Given the description of an element on the screen output the (x, y) to click on. 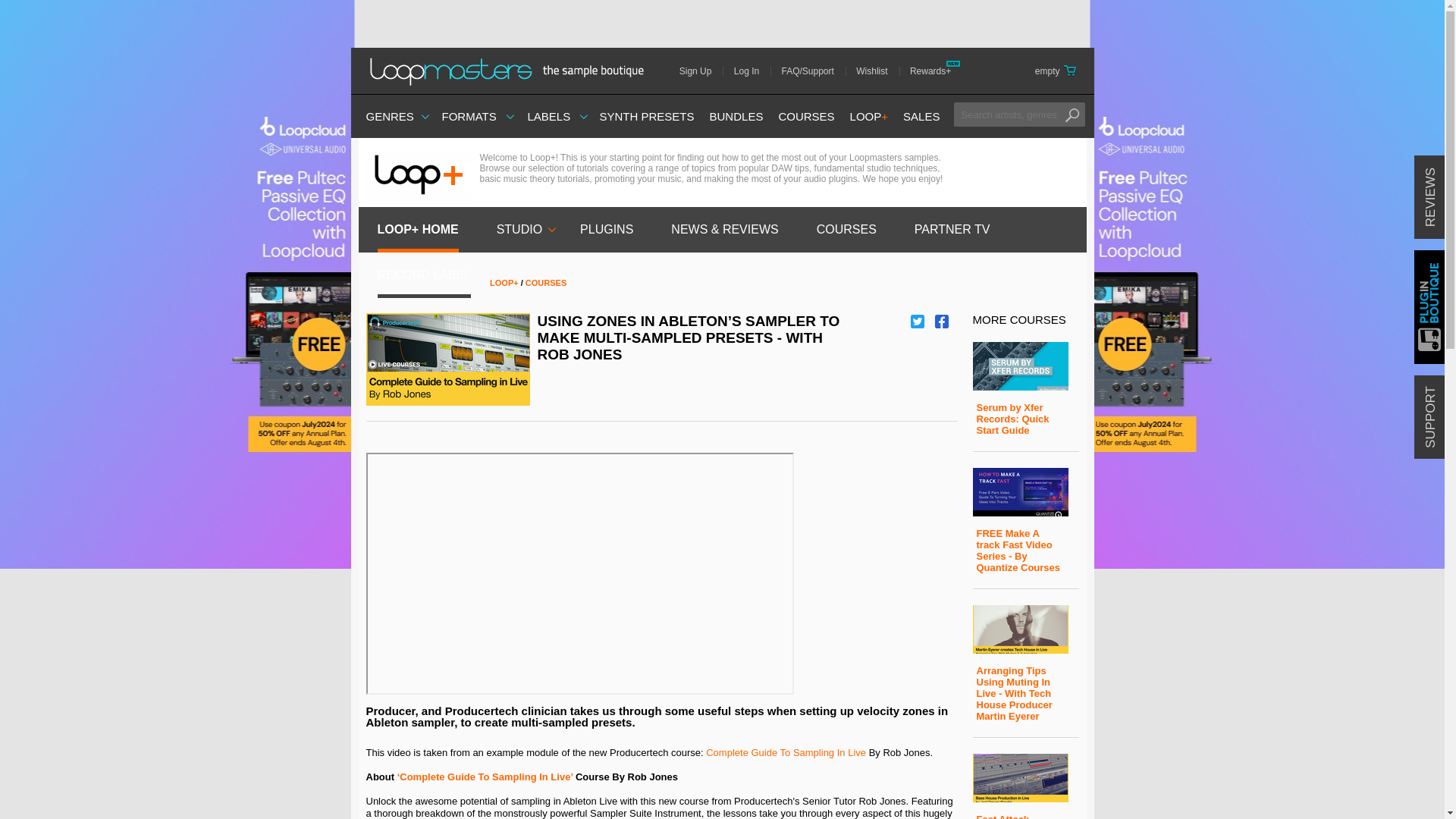
Sign Up (701, 71)
Wishlist (877, 71)
Support and frequently questioned answers (812, 71)
Wishlist (877, 71)
Loopmasters - the sample boutique (511, 71)
Log In (752, 71)
Log In (752, 71)
Sign Up (701, 71)
Show all genres (389, 115)
GENRES (389, 115)
